Given the description of an element on the screen output the (x, y) to click on. 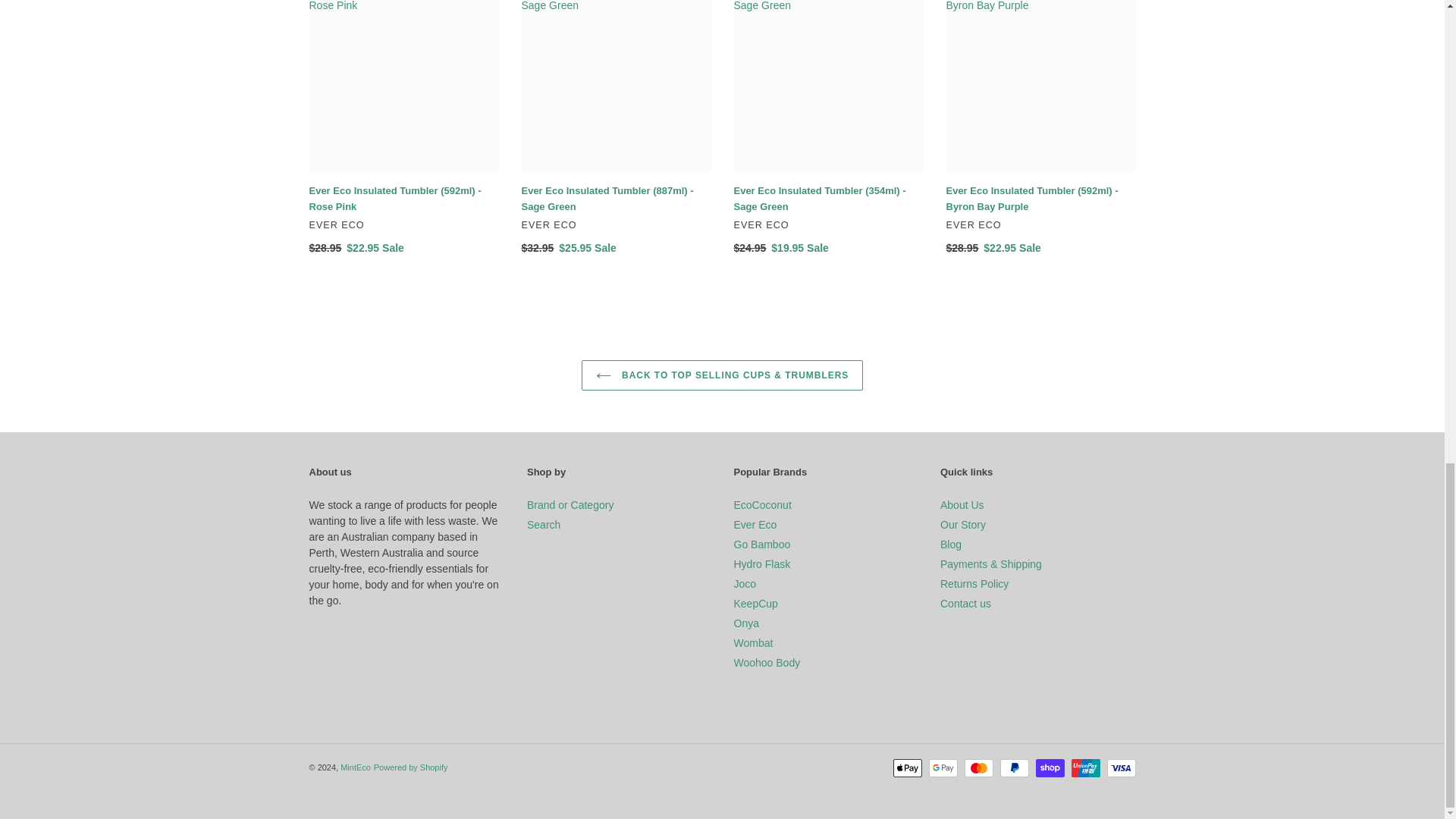
Brand or Category (569, 504)
Search (543, 524)
